Given the description of an element on the screen output the (x, y) to click on. 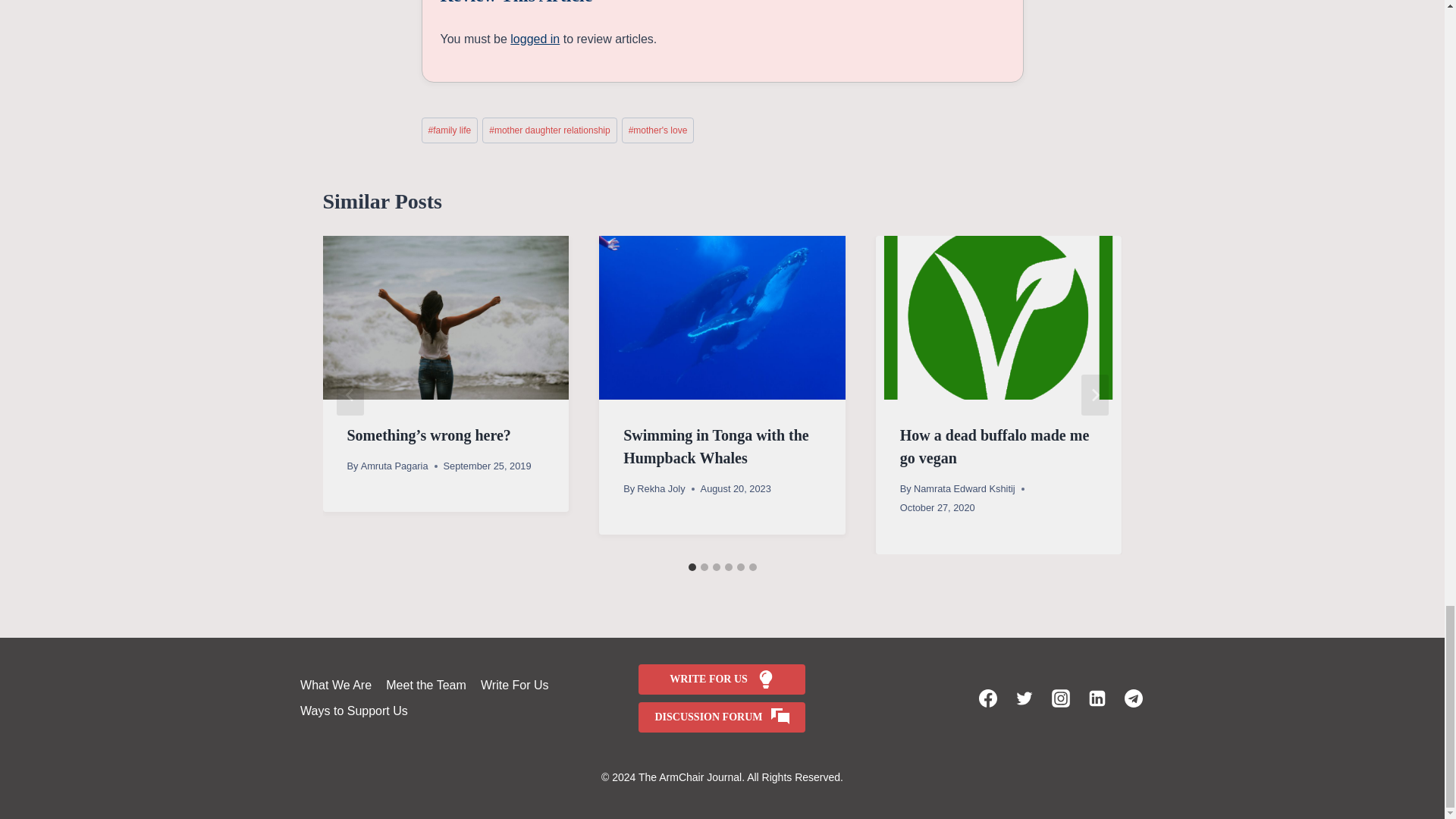
mother's love (657, 130)
mother daughter relationship (548, 130)
family life (450, 130)
